Given the description of an element on the screen output the (x, y) to click on. 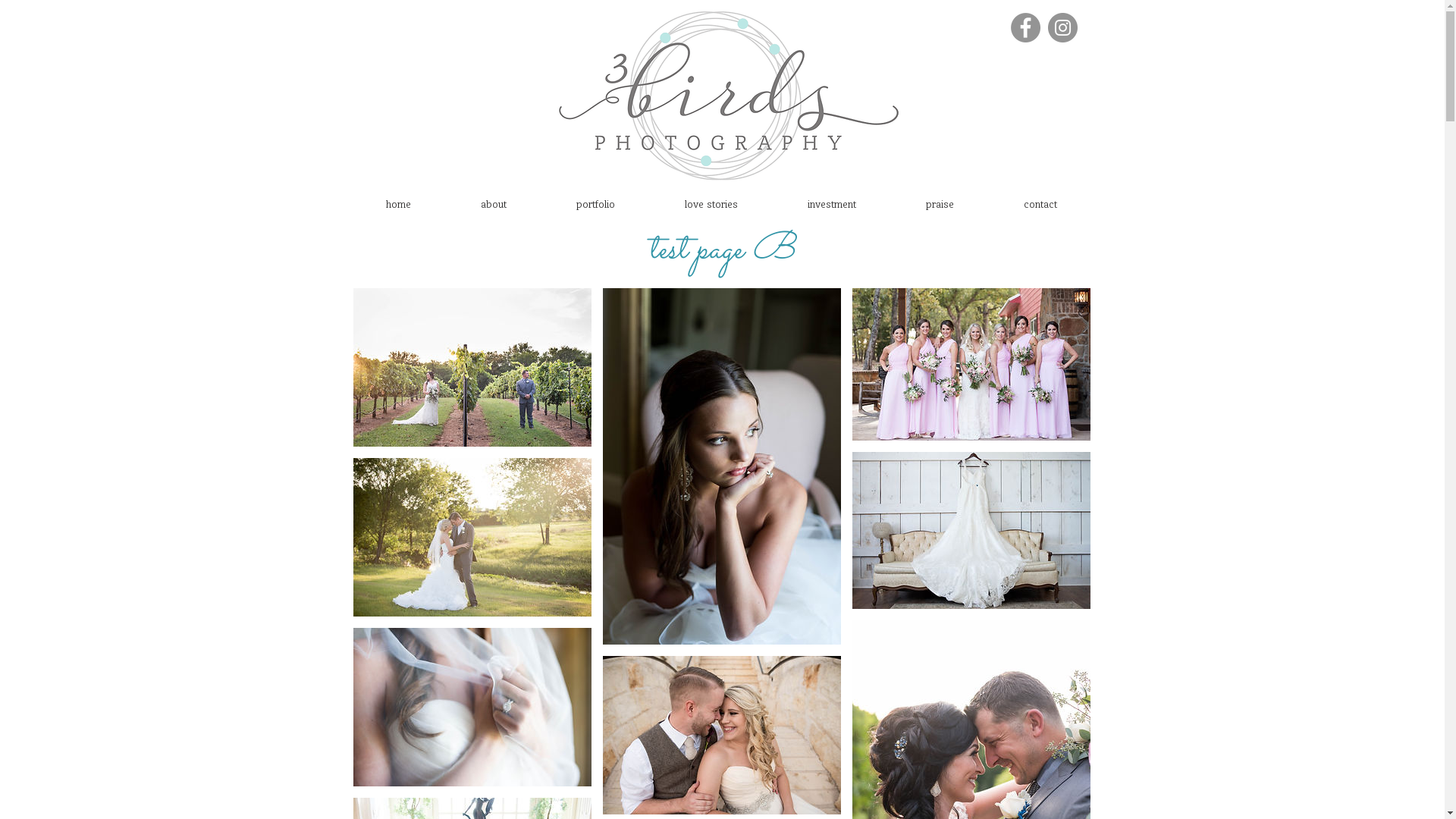
about Element type: text (493, 205)
home Element type: text (397, 205)
praise Element type: text (939, 205)
love stories Element type: text (710, 205)
contact Element type: text (1040, 205)
